Given the description of an element on the screen output the (x, y) to click on. 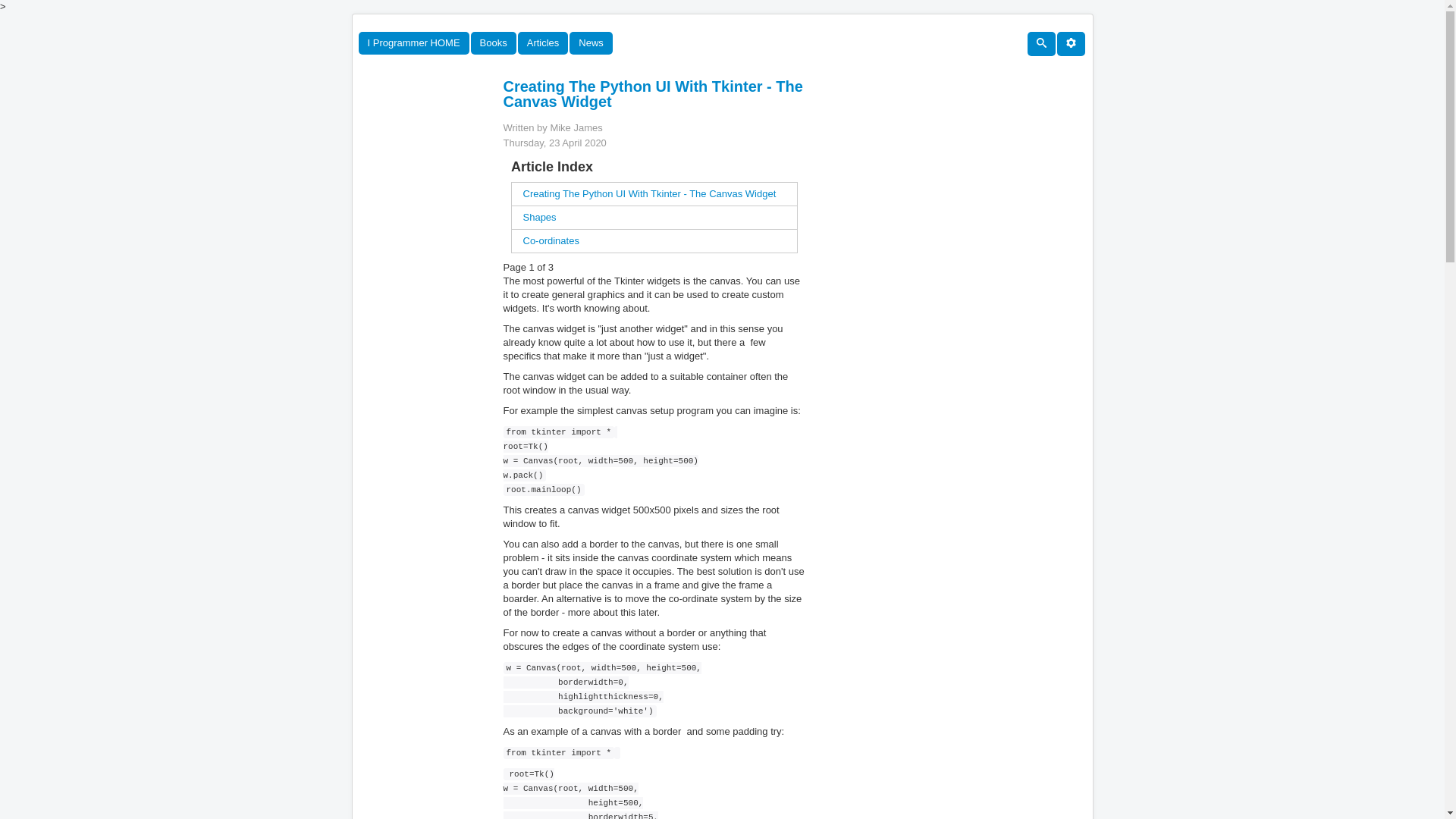
I Programmer HOME (413, 42)
Books (493, 42)
Articles (543, 42)
